Given the description of an element on the screen output the (x, y) to click on. 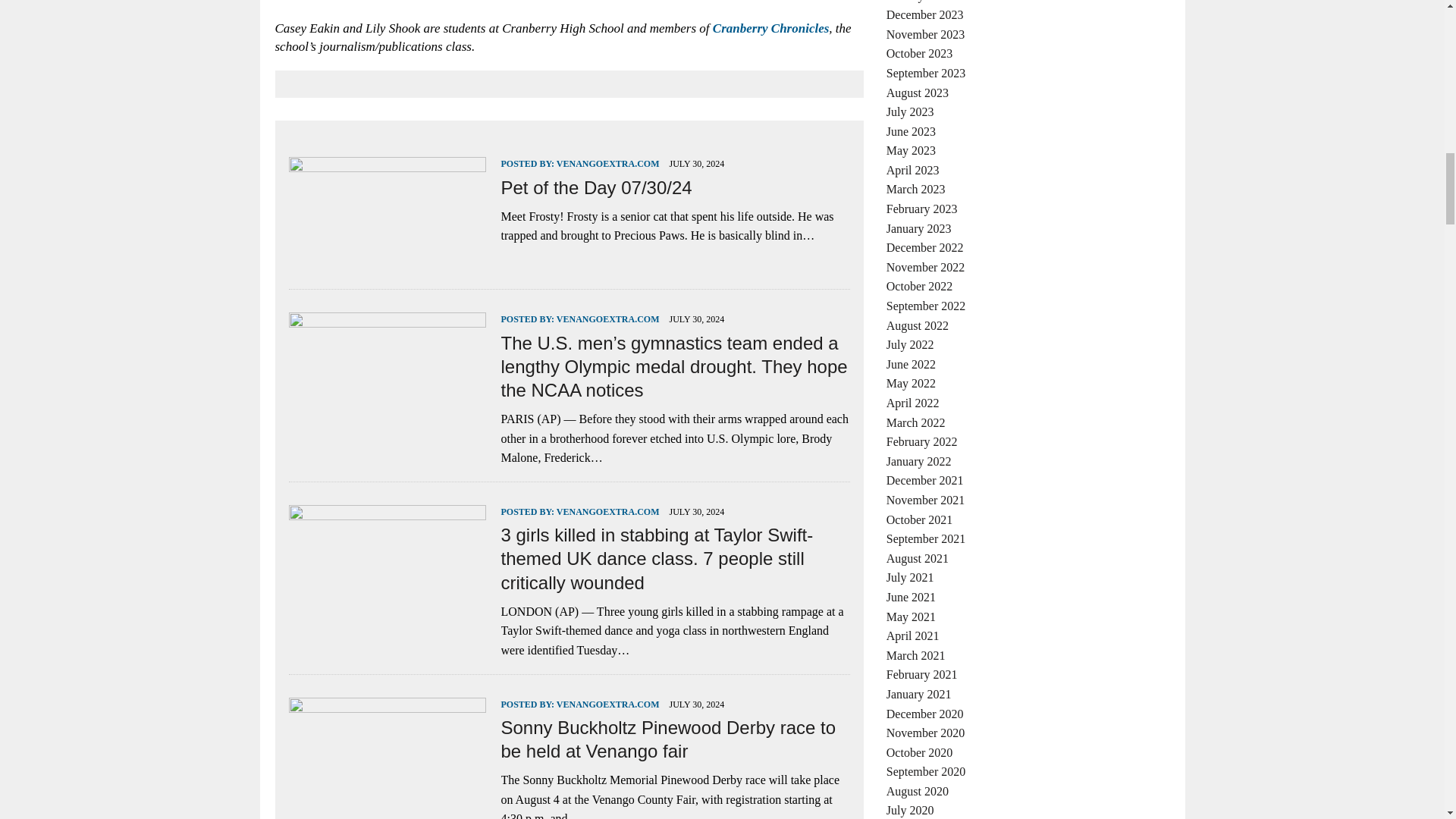
VENANGOEXTRA.COM (607, 318)
Cranberry Chronicles (771, 28)
VENANGOEXTRA.COM (607, 163)
